Given the description of an element on the screen output the (x, y) to click on. 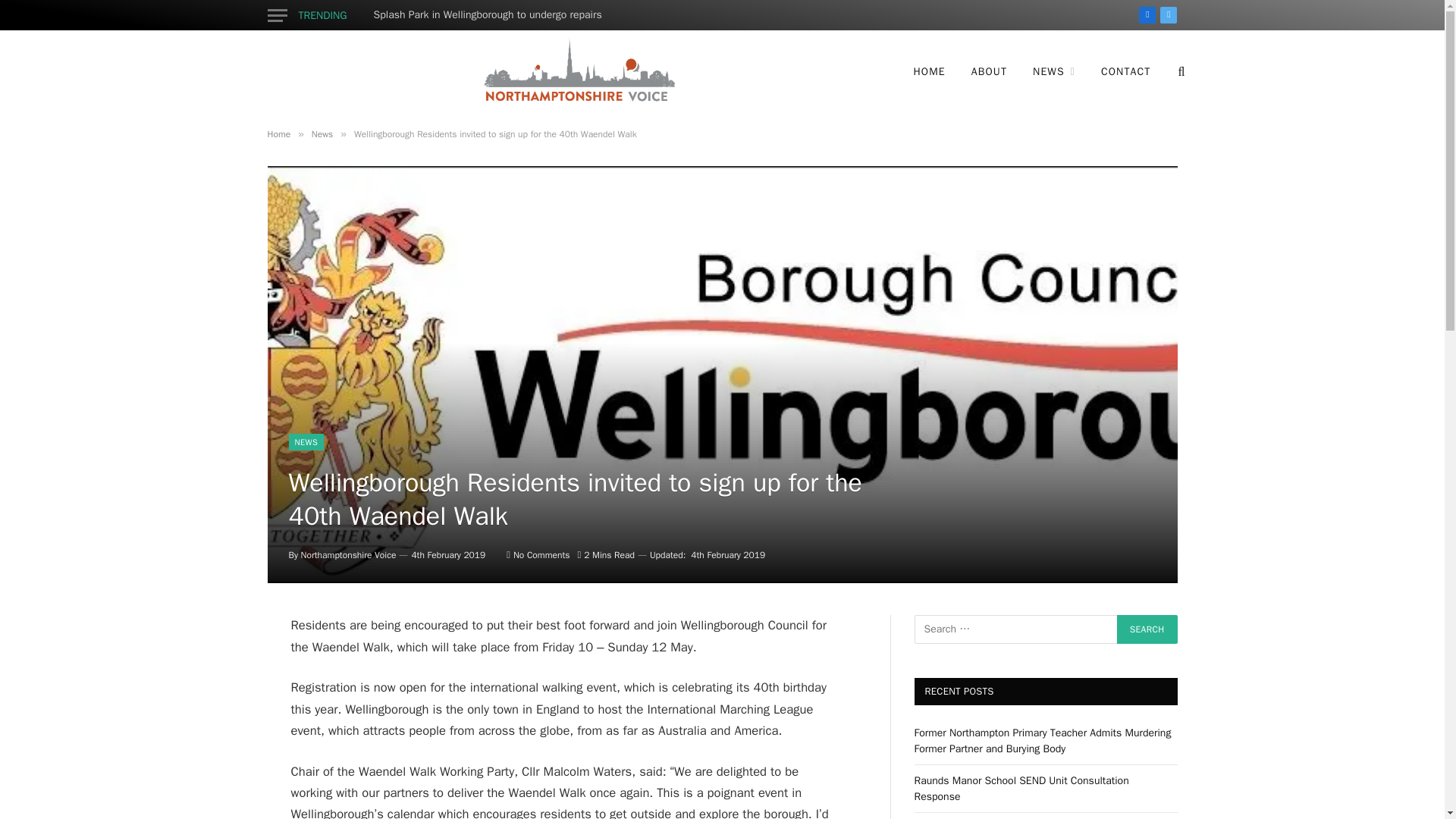
Splash Park in Wellingborough to undergo repairs (492, 15)
Facebook (1147, 14)
Northamptonshire Voice (577, 71)
Search (1146, 629)
Search (1146, 629)
Twitter (1168, 14)
